Given the description of an element on the screen output the (x, y) to click on. 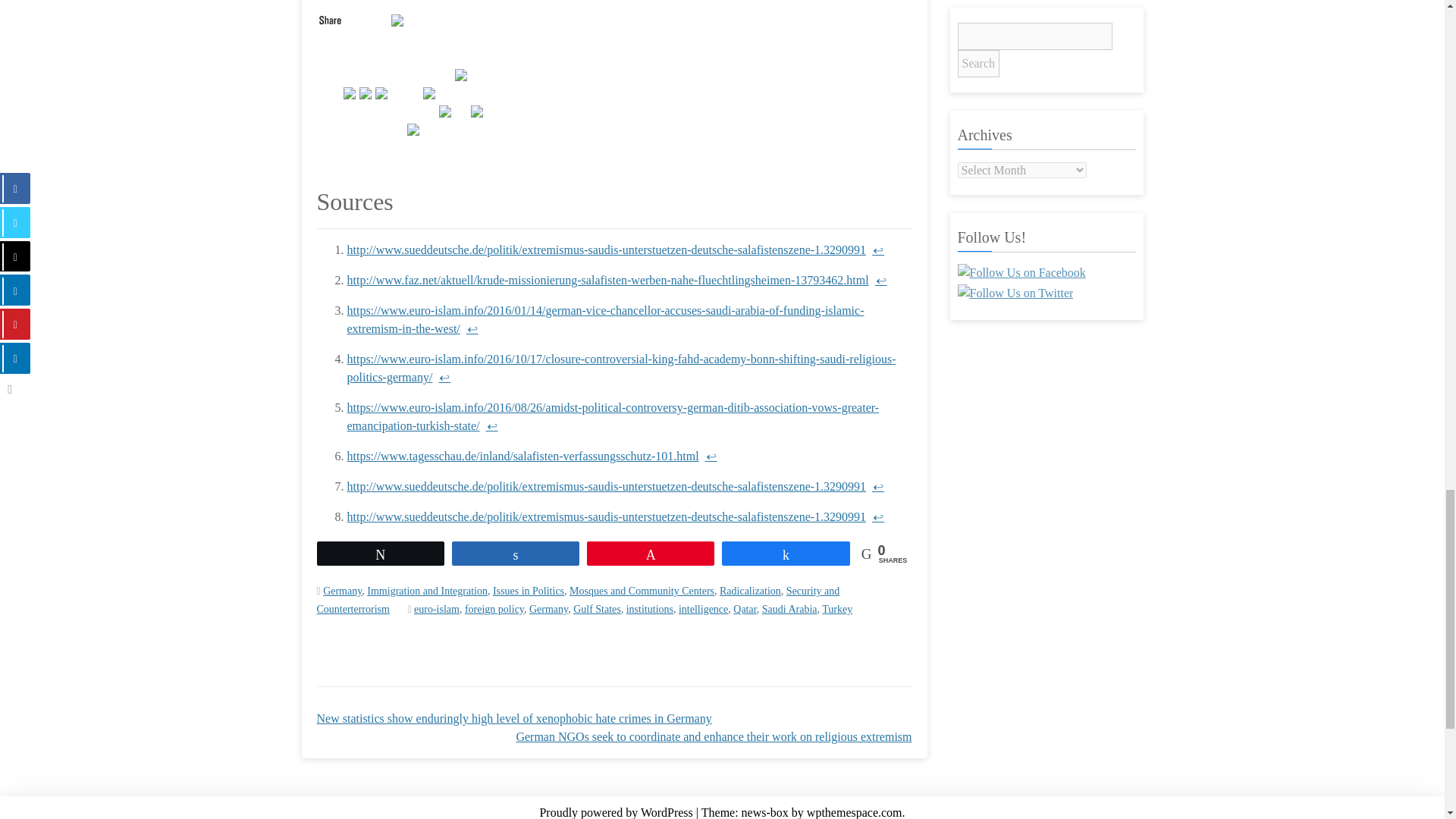
Digg (414, 127)
Twitter (350, 91)
StumbleUpon (399, 18)
Reddit (431, 91)
Facebook (367, 91)
Print (478, 109)
Linkedin (382, 91)
Delicious (462, 73)
Bebo (446, 109)
